Given the description of an element on the screen output the (x, y) to click on. 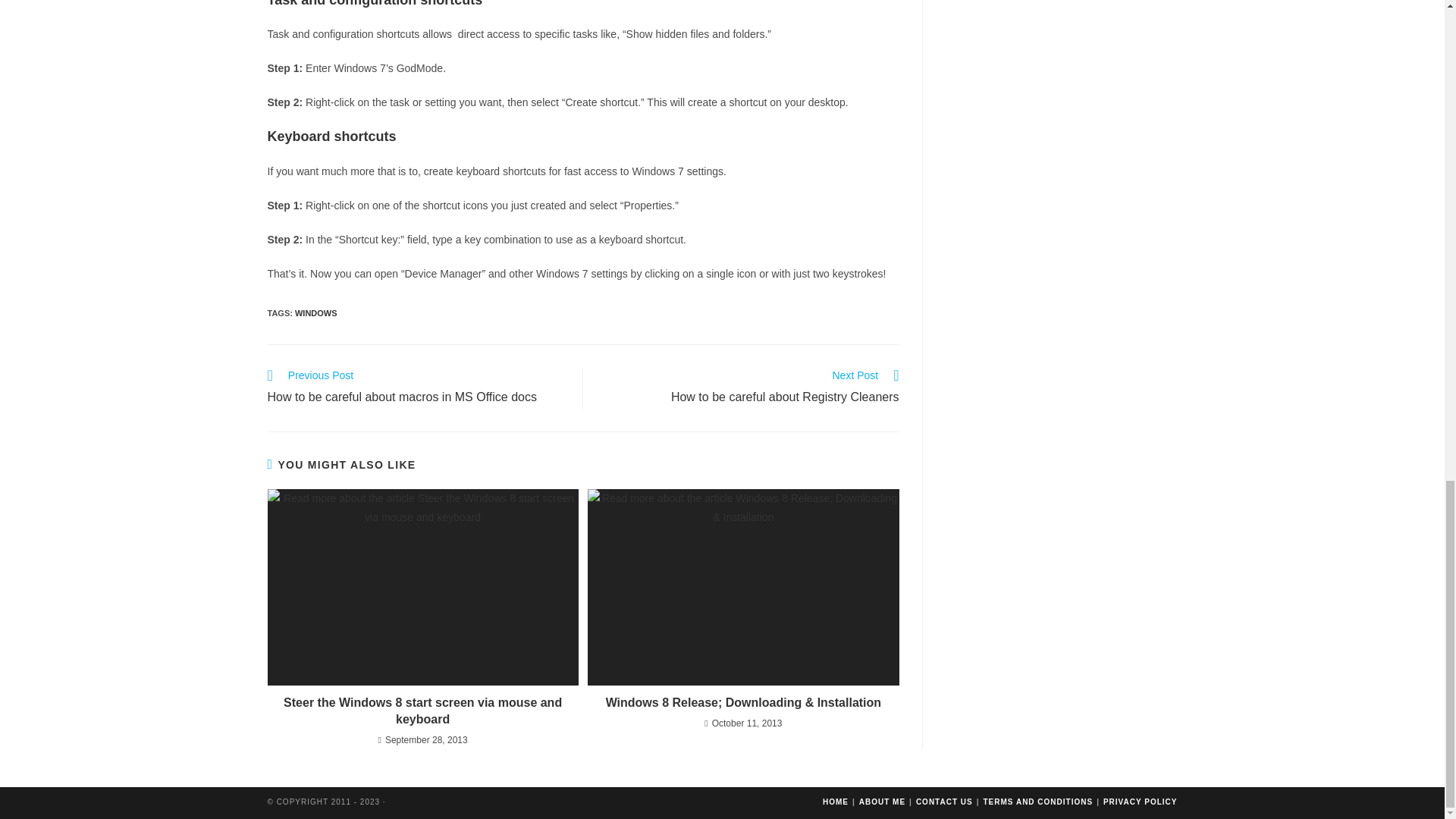
Steer the Windows 8 start screen via mouse and keyboard (422, 711)
WINDOWS (748, 387)
